Given the description of an element on the screen output the (x, y) to click on. 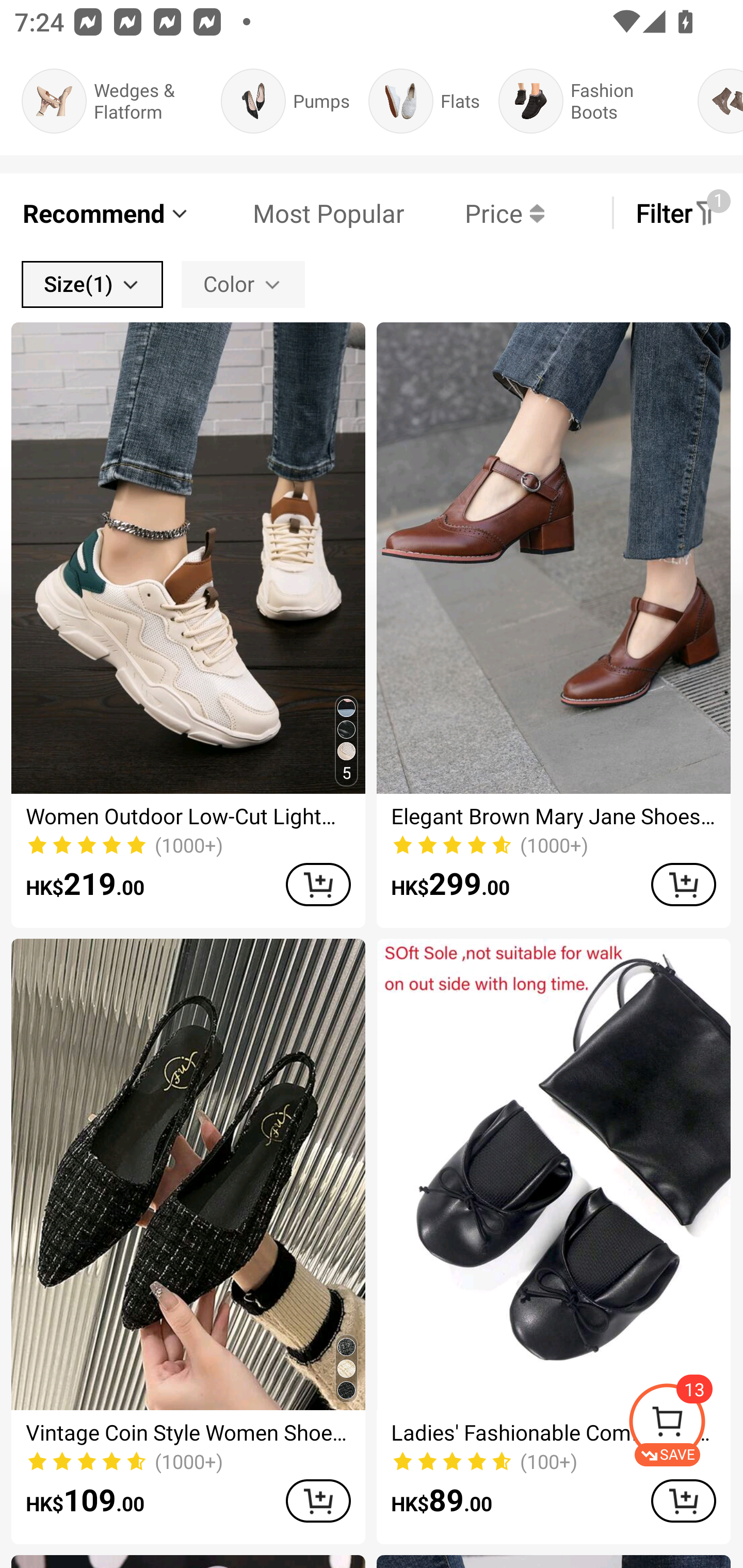
Wedges & Flatform (111, 100)
Pumps (284, 100)
Flats (423, 100)
Fashion Boots (588, 100)
Recommend (106, 213)
Most Popular (297, 213)
Price (474, 213)
Filter 1 (677, 213)
Size(1) (91, 283)
Color (242, 283)
ADD TO CART (318, 884)
ADD TO CART (683, 884)
SAVE (685, 1424)
ADD TO CART (318, 1500)
ADD TO CART (683, 1500)
